Given the description of an element on the screen output the (x, y) to click on. 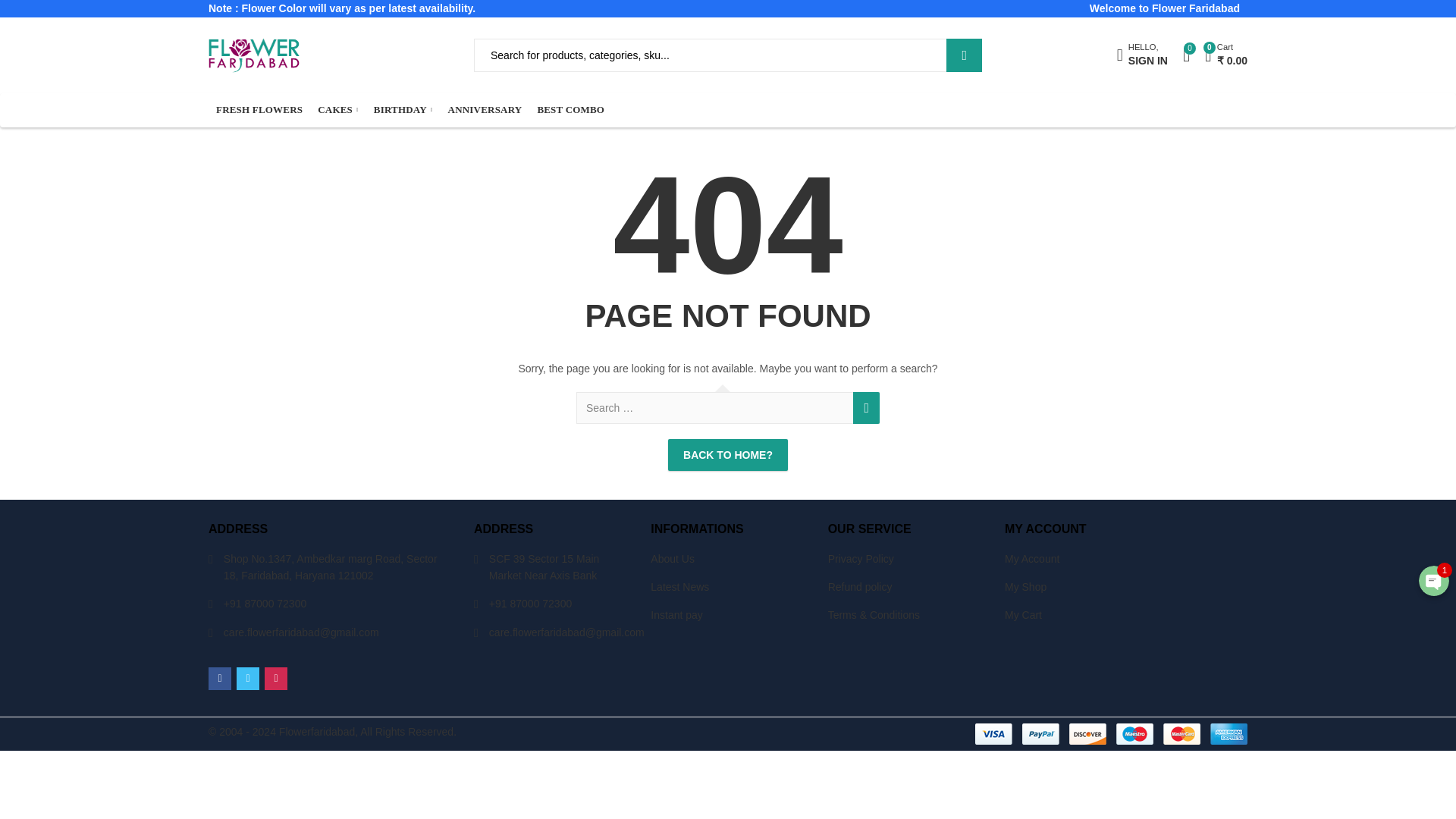
SEARCH (963, 55)
BIRTHDAY (1141, 55)
CAKES (403, 110)
FRESH FLOWERS (338, 110)
